Given the description of an element on the screen output the (x, y) to click on. 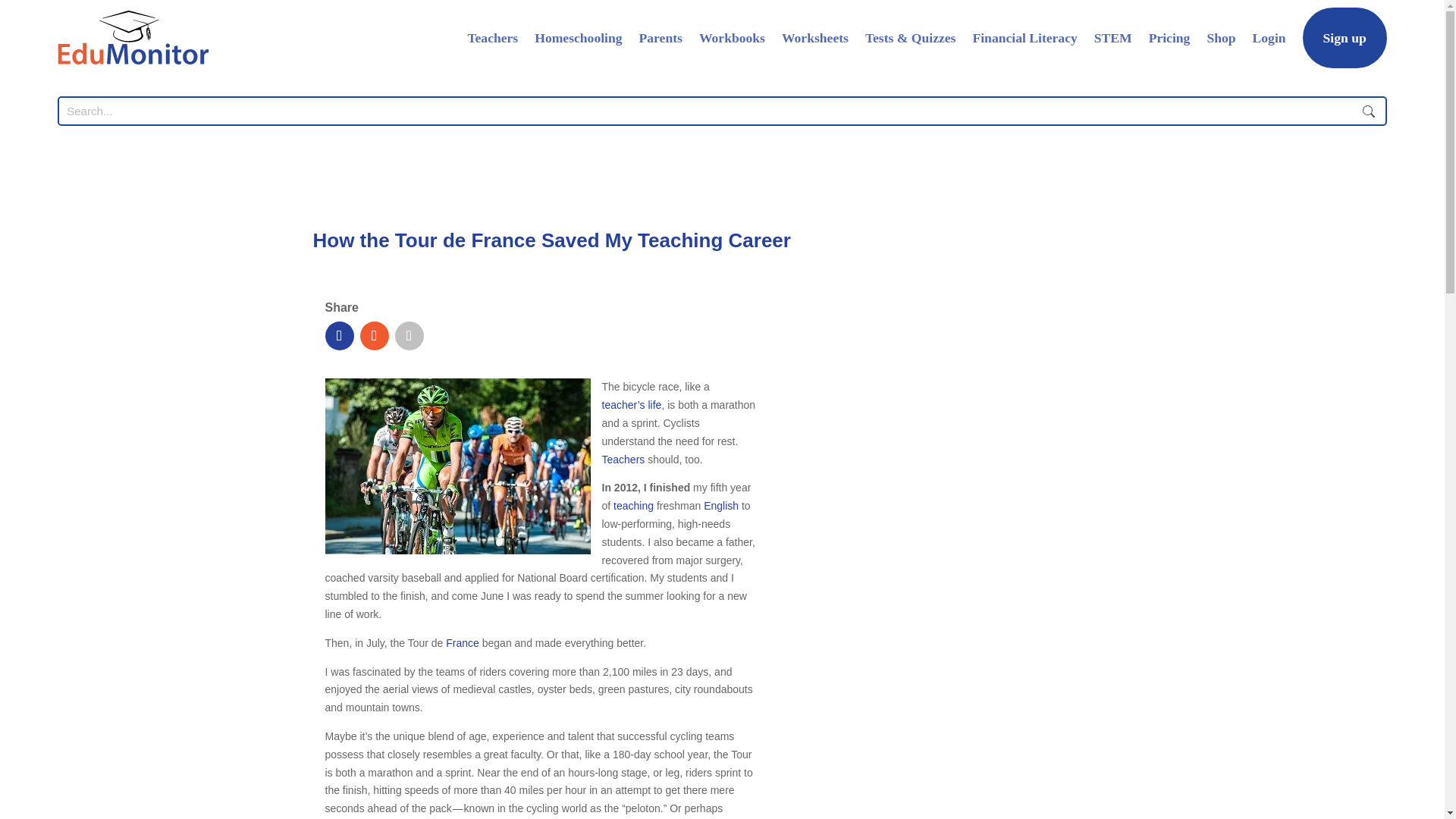
Homeschooling (577, 37)
Teachers (623, 459)
English (720, 505)
Workbooks (731, 37)
Follow on X (373, 335)
Search for: (707, 110)
Worksheets (814, 37)
Follow on Facebook (338, 335)
Follow on Pinterest (408, 335)
teaching (632, 505)
Sign up (1345, 37)
France (462, 643)
Financial Literacy (1024, 37)
Submit (1369, 110)
